Given the description of an element on the screen output the (x, y) to click on. 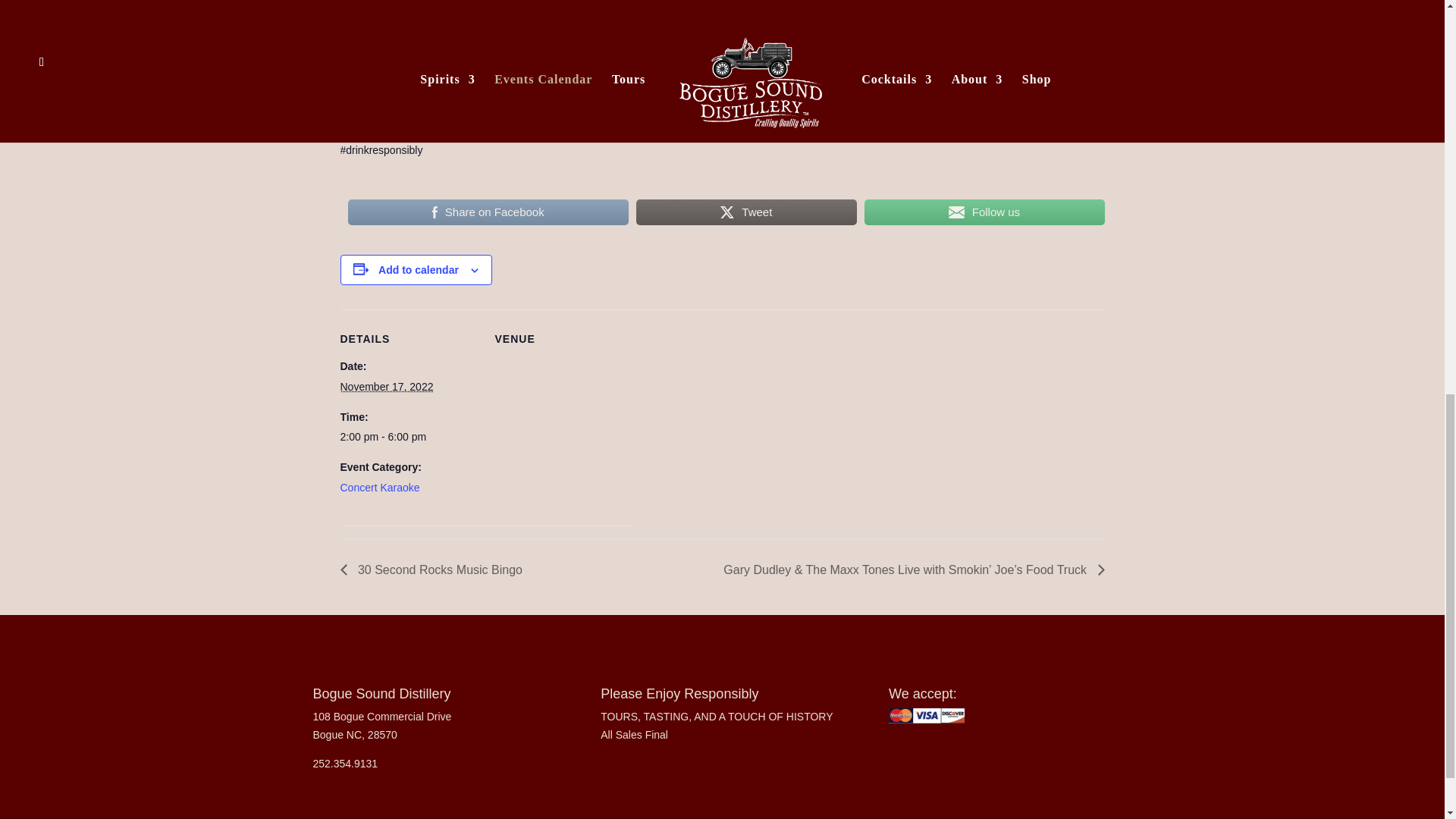
Tweet (746, 212)
2022-11-17 (385, 386)
Add to calendar (418, 269)
Follow us (984, 212)
2022-11-17 (407, 437)
Share on Facebook (487, 212)
